Given the description of an element on the screen output the (x, y) to click on. 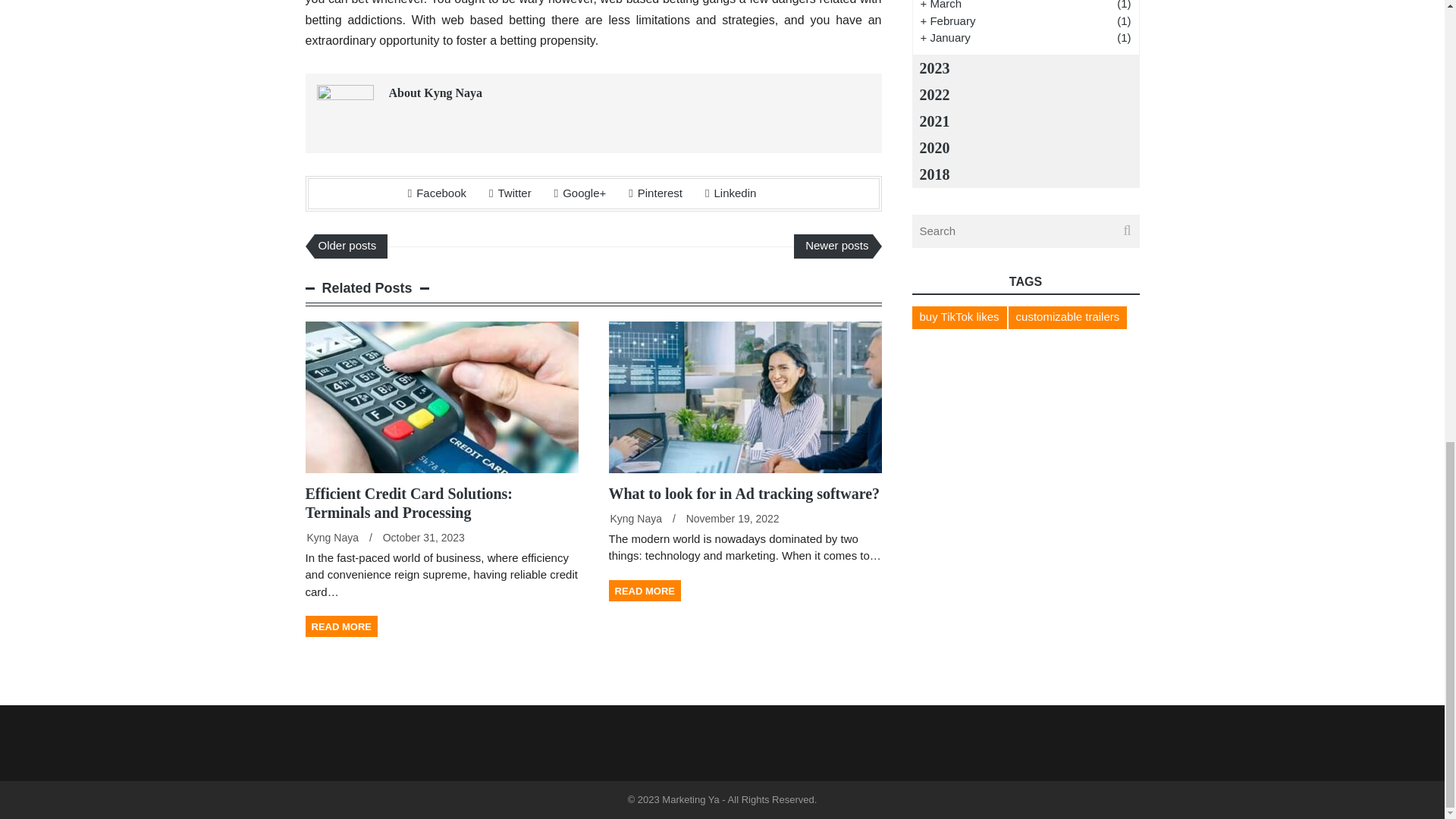
Posts by Kyng Naya (635, 518)
Facebook (436, 192)
Posts by Kyng Naya (331, 537)
Twitter (510, 192)
